Given the description of an element on the screen output the (x, y) to click on. 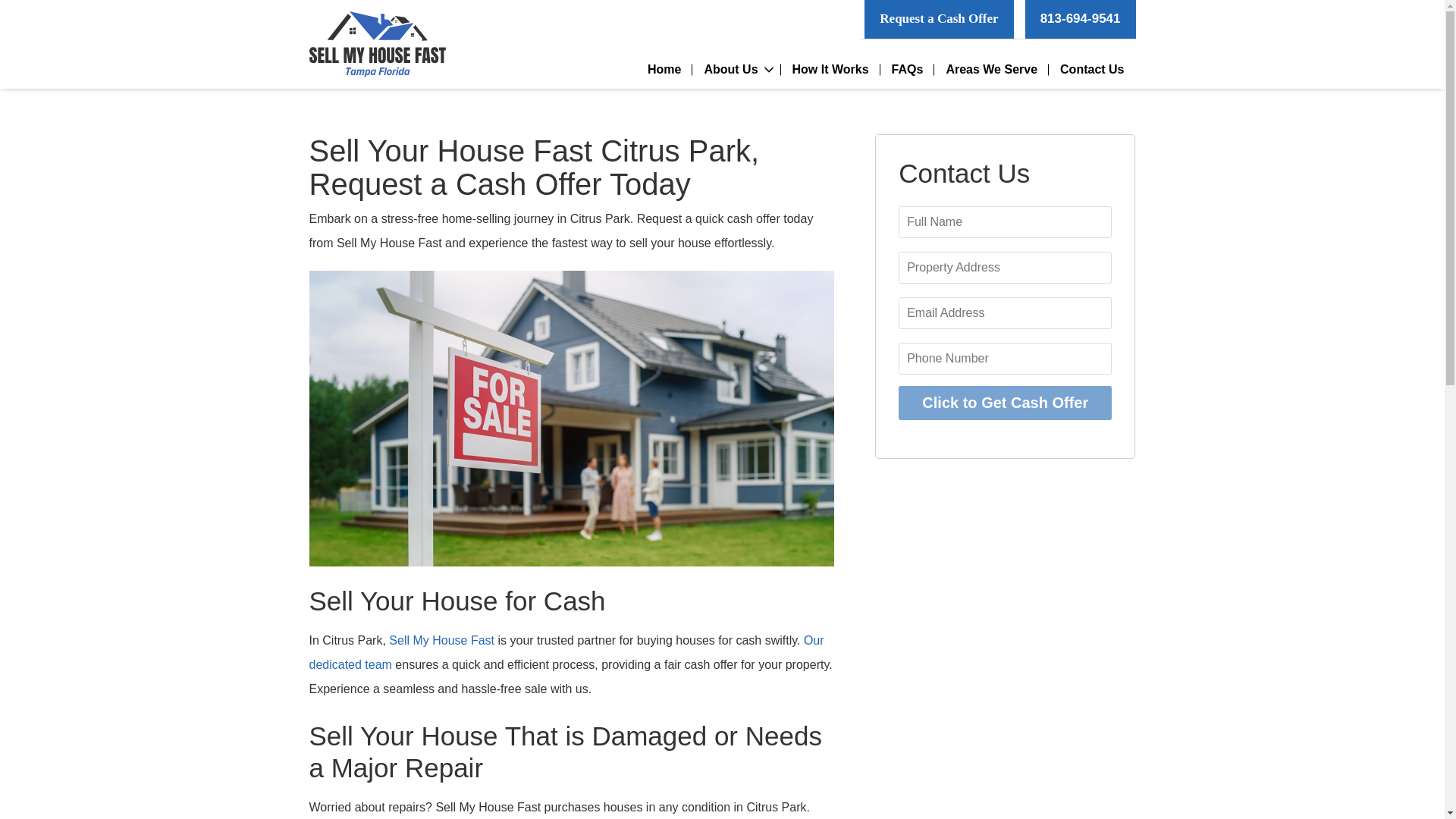
Our dedicated team (566, 651)
FAQs (907, 69)
Home (664, 69)
Click to Get Cash Offer (1005, 402)
Request a Cash Offer (938, 19)
Contact Us (1091, 69)
Click to Get Cash Offer (1005, 402)
Areas We Serve (991, 69)
813-694-9541 (1080, 19)
About Us (736, 69)
Sell My House Fast (441, 640)
How It Works (830, 69)
